Given the description of an element on the screen output the (x, y) to click on. 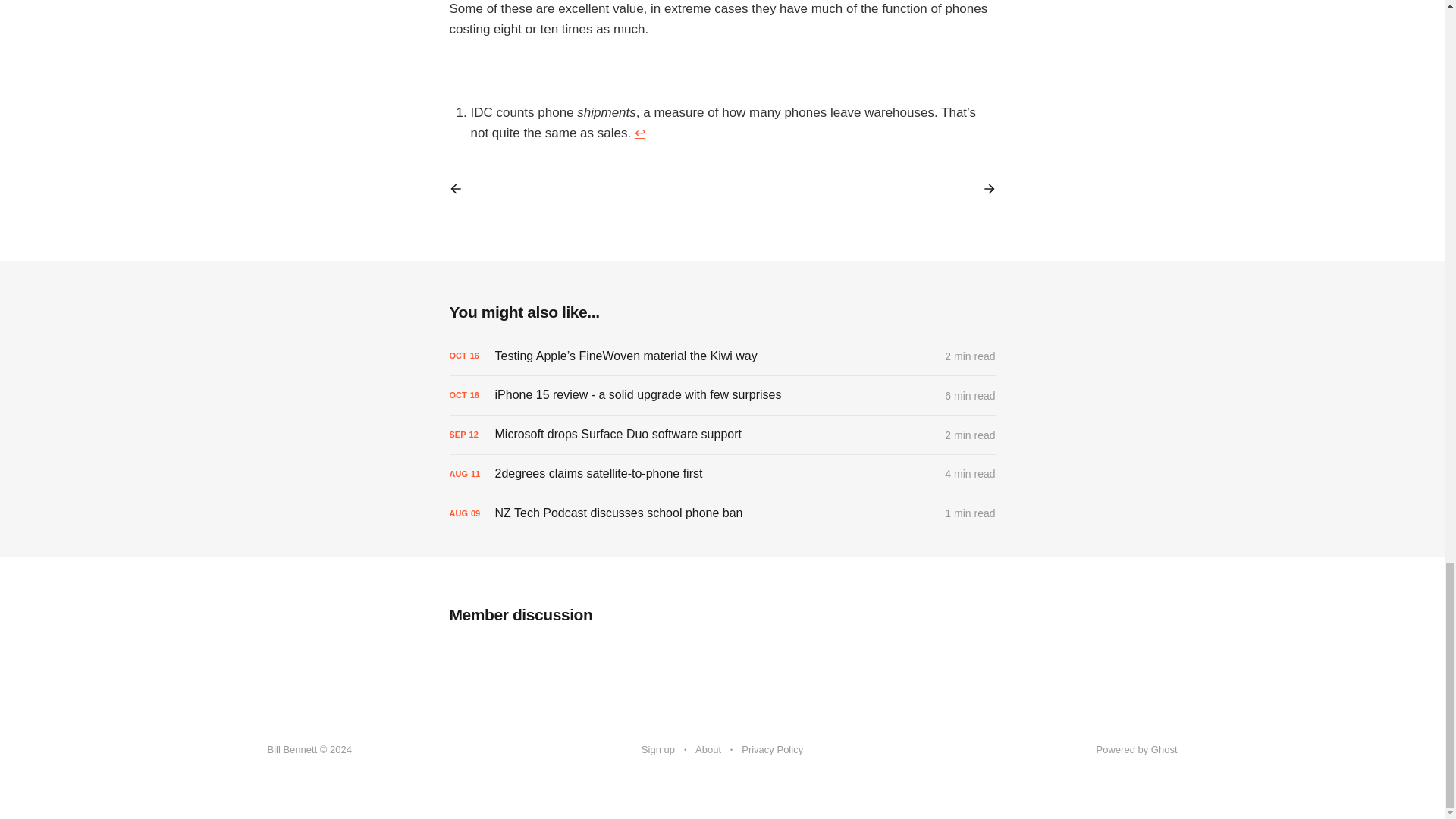
About (707, 750)
Sign up (658, 750)
Privacy Policy (772, 750)
Powered by Ghost (1136, 749)
